Given the description of an element on the screen output the (x, y) to click on. 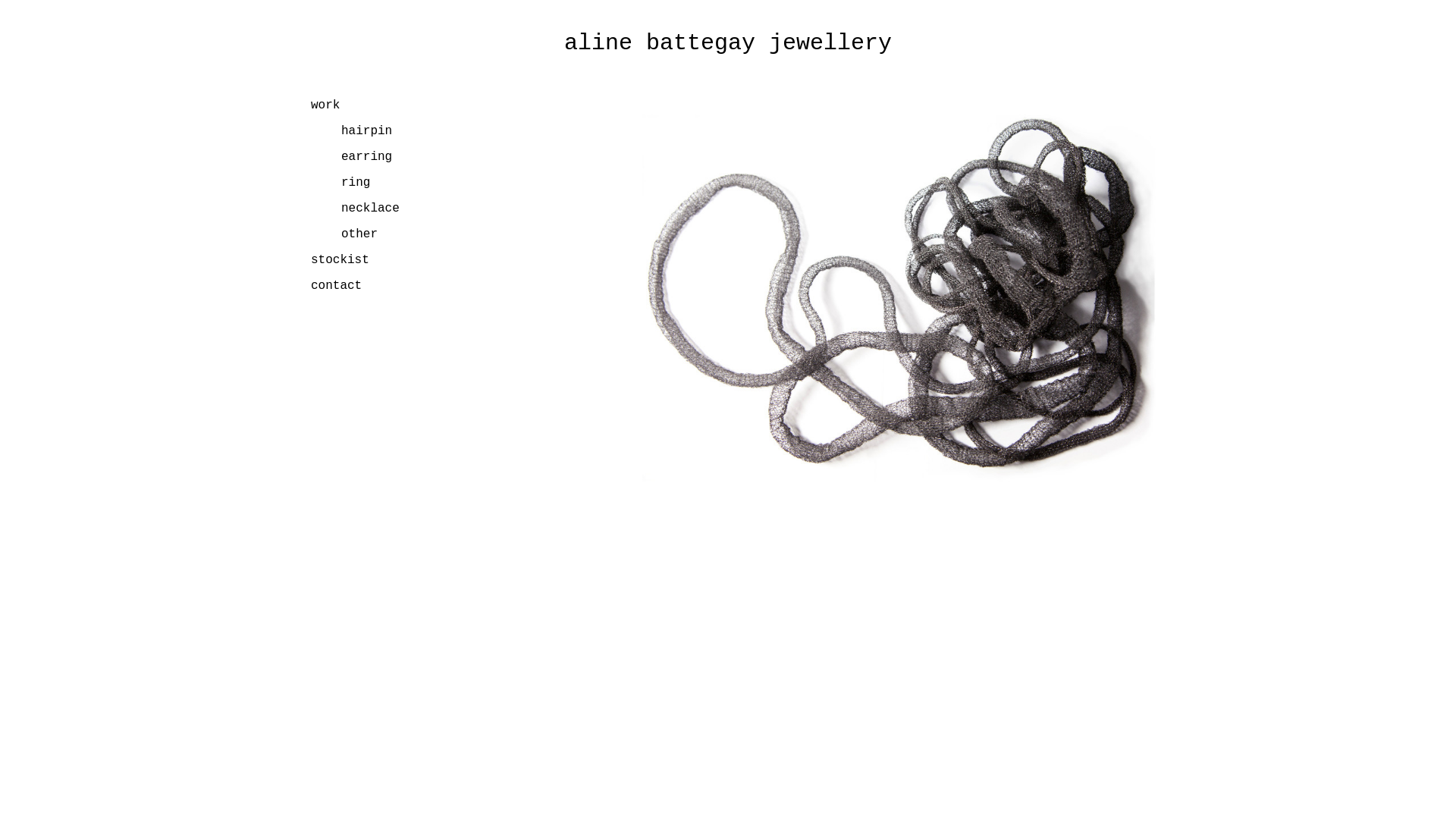
necklace Element type: text (370, 208)
aline battegay jewellery Element type: text (727, 43)
hairpin Element type: text (366, 131)
ring Element type: text (355, 182)
earring Element type: text (366, 156)
contact Element type: text (335, 285)
other Element type: text (359, 234)
stockist Element type: text (339, 259)
